Given the description of an element on the screen output the (x, y) to click on. 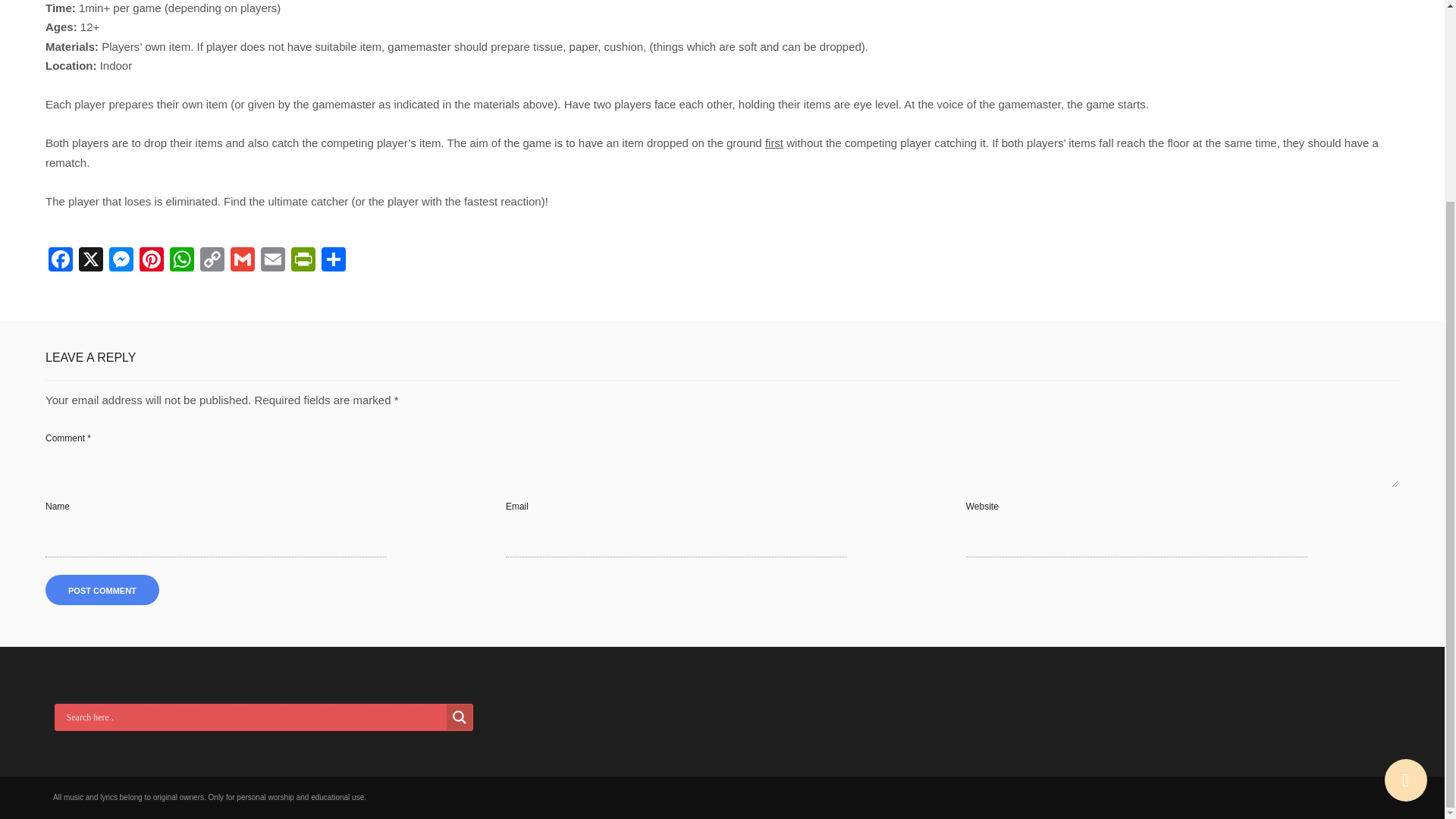
Copy Link (211, 261)
Email (272, 261)
Facebook (60, 261)
X (90, 261)
Messenger (121, 261)
Copy Link (211, 261)
Share (333, 261)
Gmail (242, 261)
Pinterest (151, 261)
Pinterest (151, 261)
Email (272, 261)
Facebook (60, 261)
WhatsApp (181, 261)
PrintFriendly (303, 261)
Post Comment (101, 589)
